Given the description of an element on the screen output the (x, y) to click on. 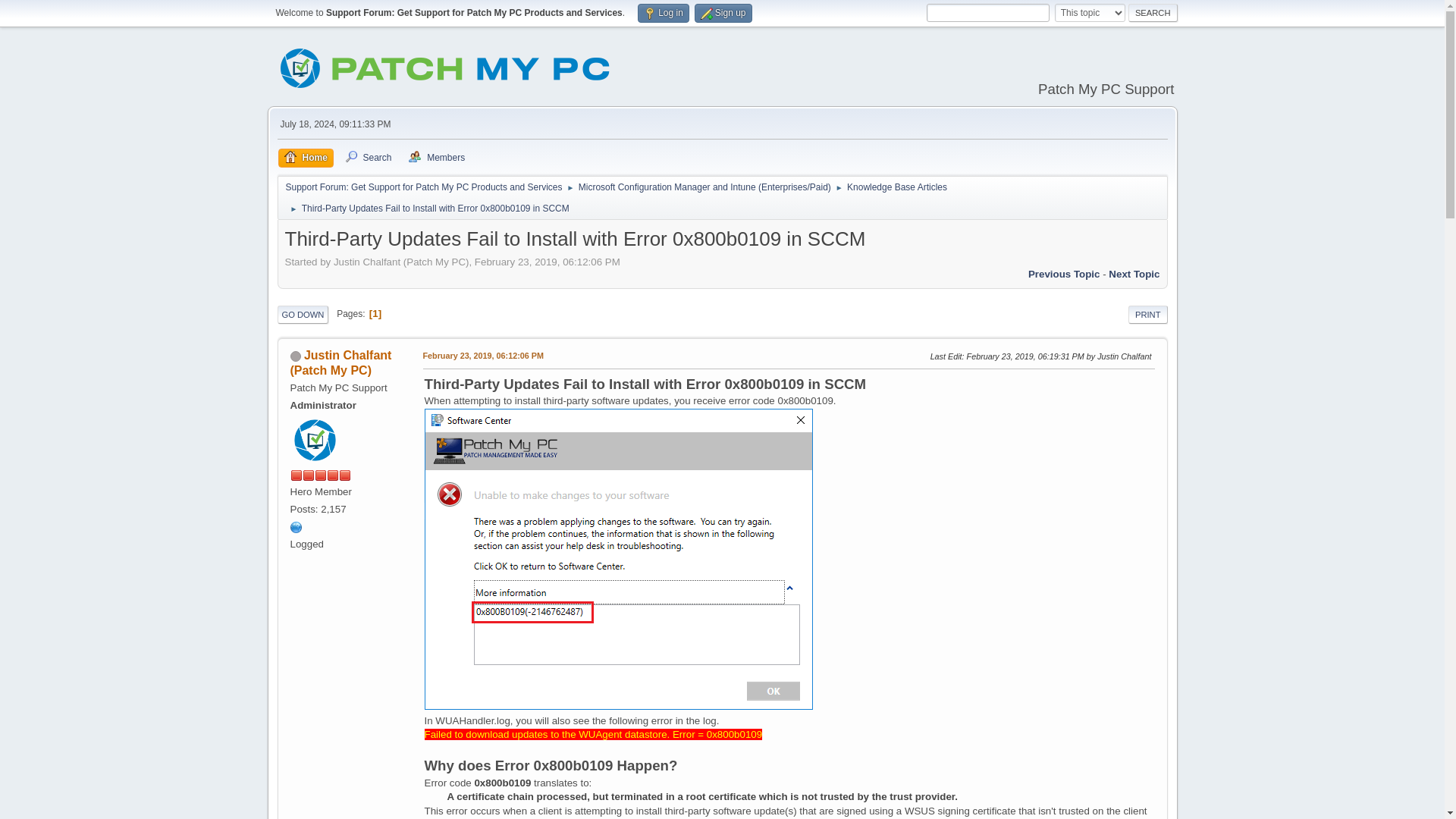
Next Topic (1133, 274)
Previous Topic (1063, 274)
Offline (294, 356)
Patch My PC Support (295, 526)
Log in (662, 13)
Members (436, 157)
PRINT (1147, 314)
Knowledge Base Articles (897, 184)
Search (367, 157)
Search (1152, 13)
February 23, 2019, 06:12:06 PM (483, 356)
Search (1152, 13)
